Given the description of an element on the screen output the (x, y) to click on. 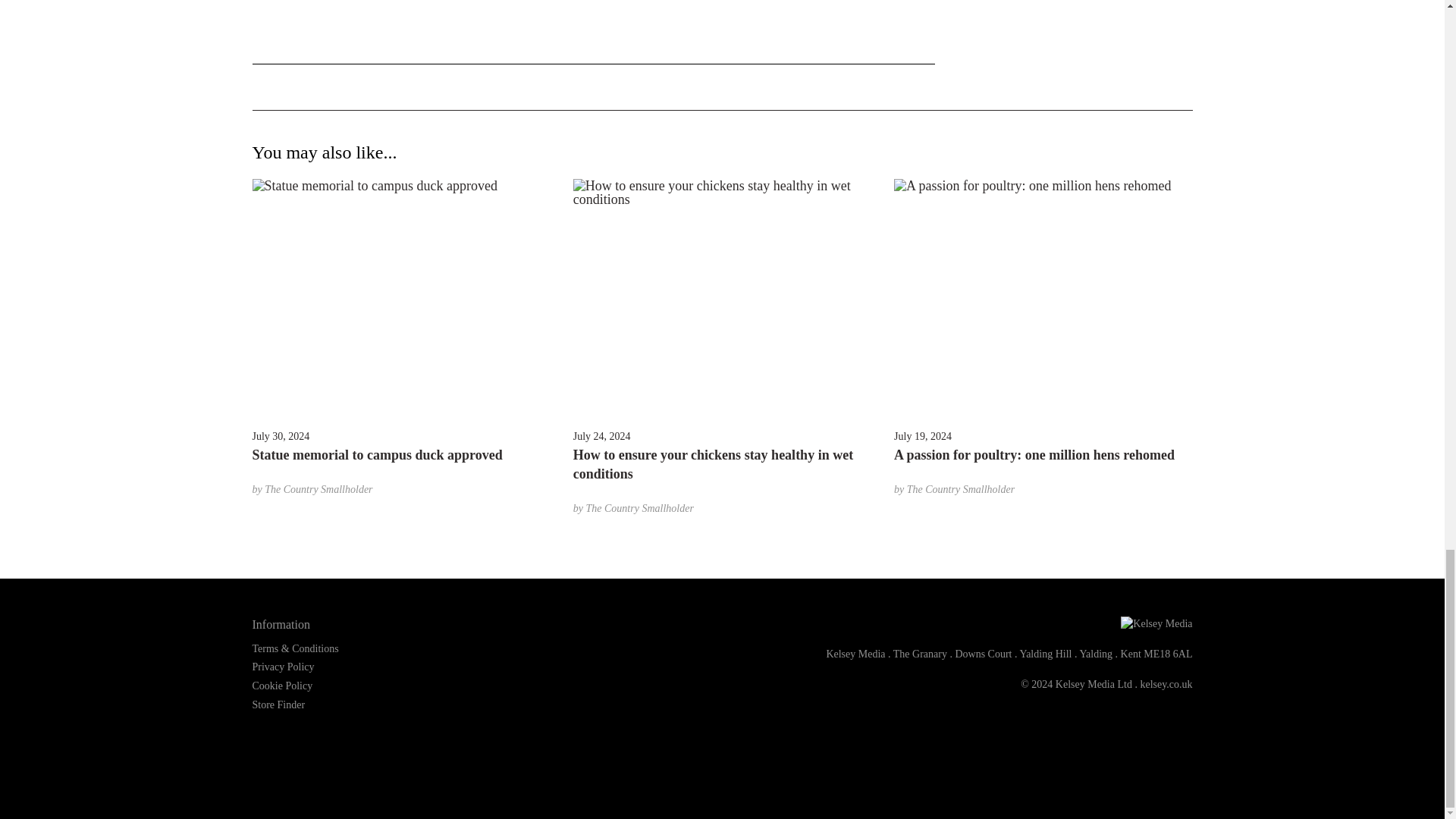
kelsey.co.uk (1166, 684)
Cookie Policy (282, 685)
Privacy Policy (282, 666)
Store Finder (277, 704)
